Given the description of an element on the screen output the (x, y) to click on. 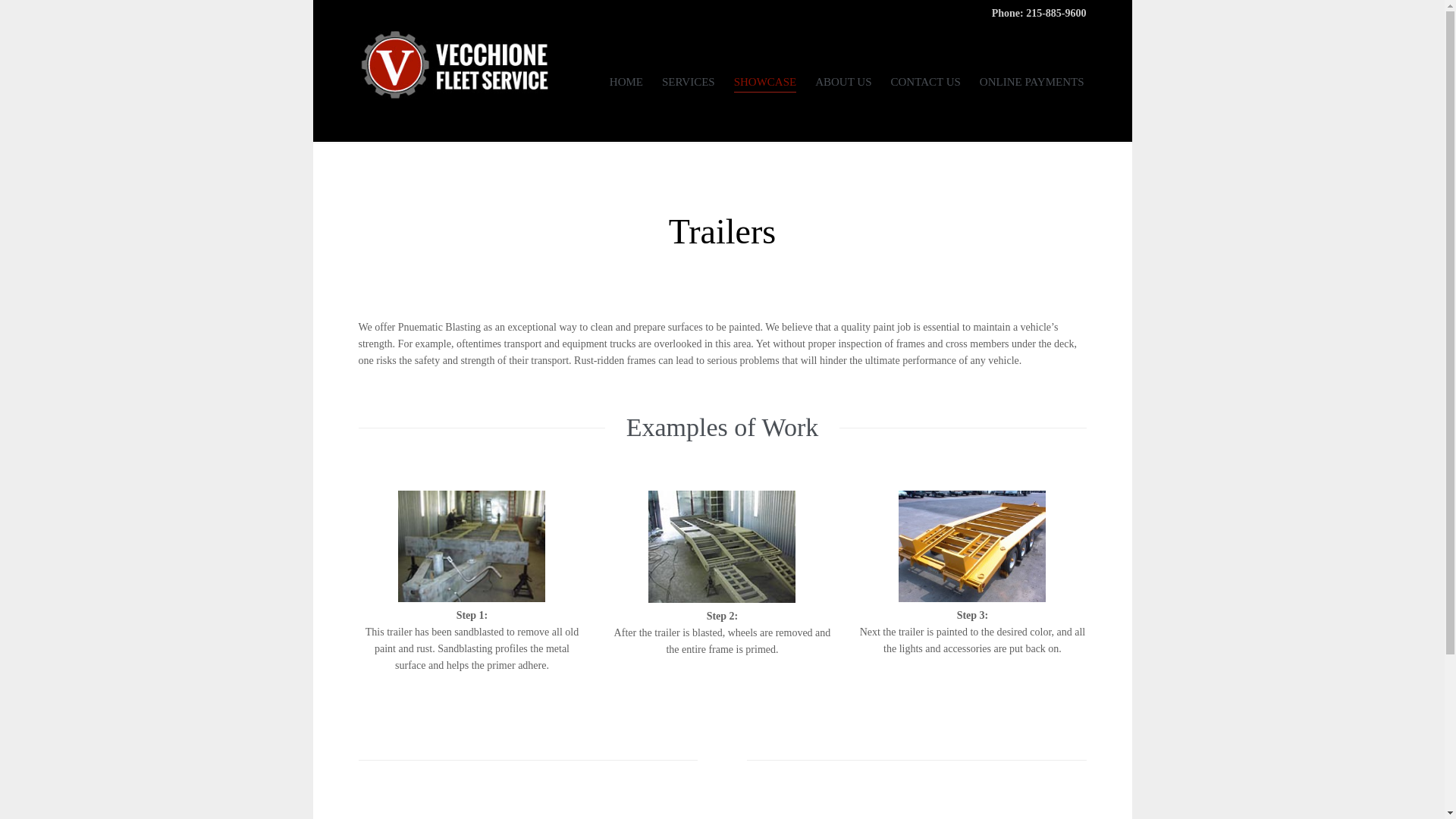
SERVICES (688, 84)
HOME (626, 84)
